Given the description of an element on the screen output the (x, y) to click on. 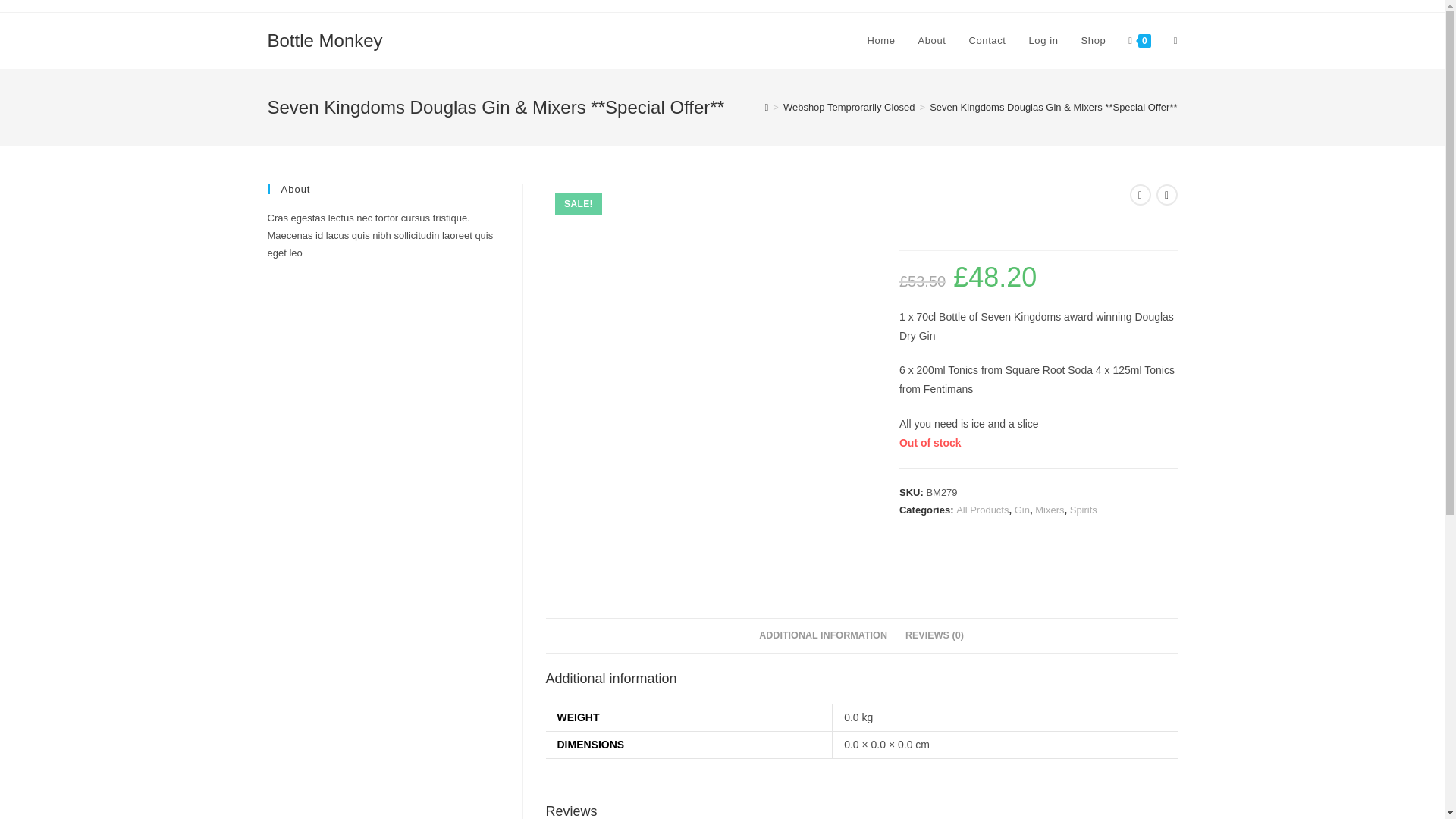
Home (880, 40)
All Products (982, 509)
Bottle Monkey (323, 40)
Spirits (1083, 509)
Log in (1043, 40)
Contact (986, 40)
ADDITIONAL INFORMATION (823, 635)
Gin (1021, 509)
Webshop Temprorarily Closed (849, 107)
About (932, 40)
